Given the description of an element on the screen output the (x, y) to click on. 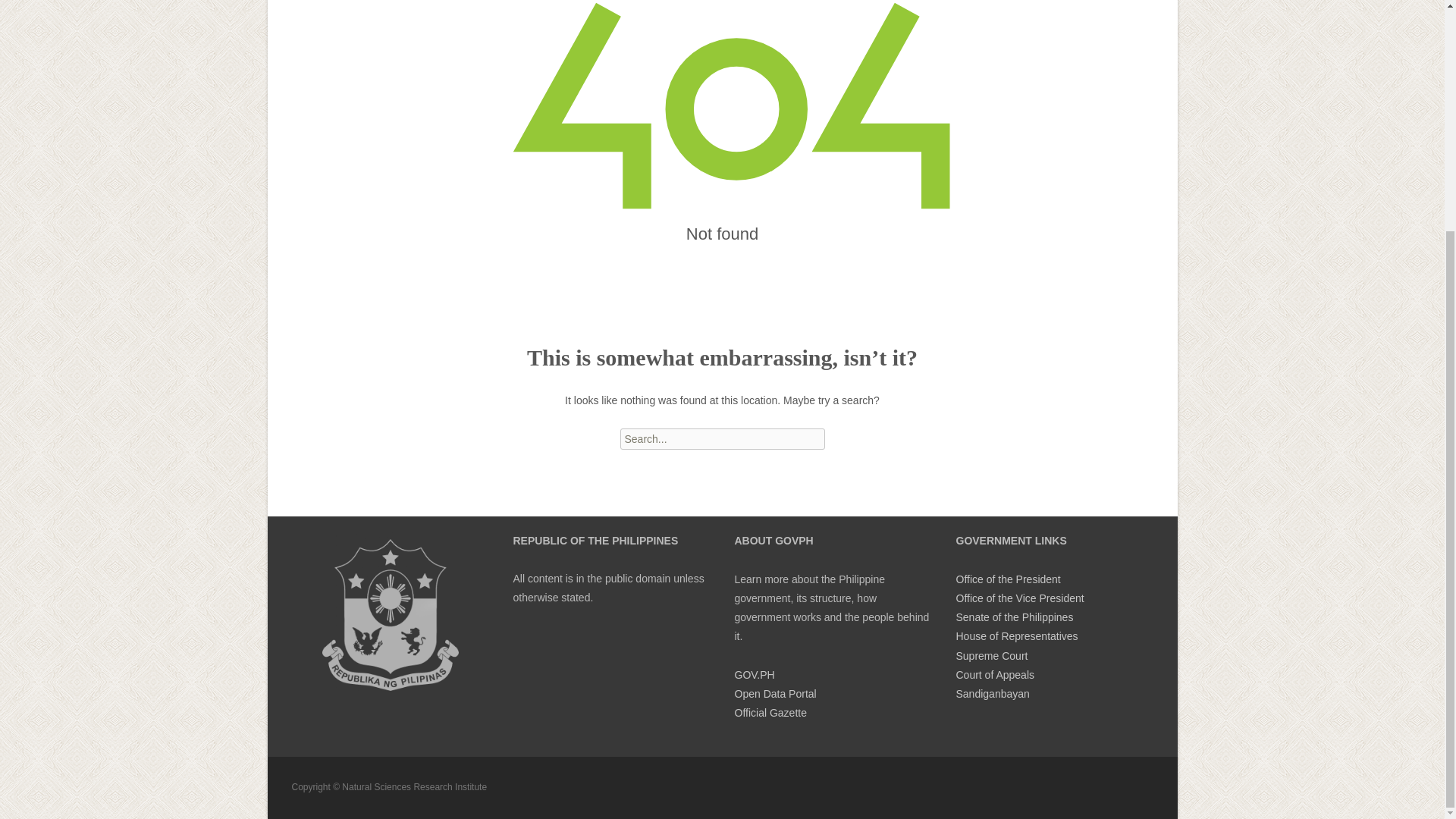
House of Representatives (1016, 635)
Office of the Vice President (1019, 598)
Court of Appeals (994, 674)
Open Data Portal (774, 693)
Office of the President (1007, 579)
GOV.PH (753, 674)
Search for: (722, 438)
Supreme Court (991, 655)
Sandiganbayan (992, 693)
Official Gazette (769, 712)
Senate of the Philippines (1014, 616)
